Given the description of an element on the screen output the (x, y) to click on. 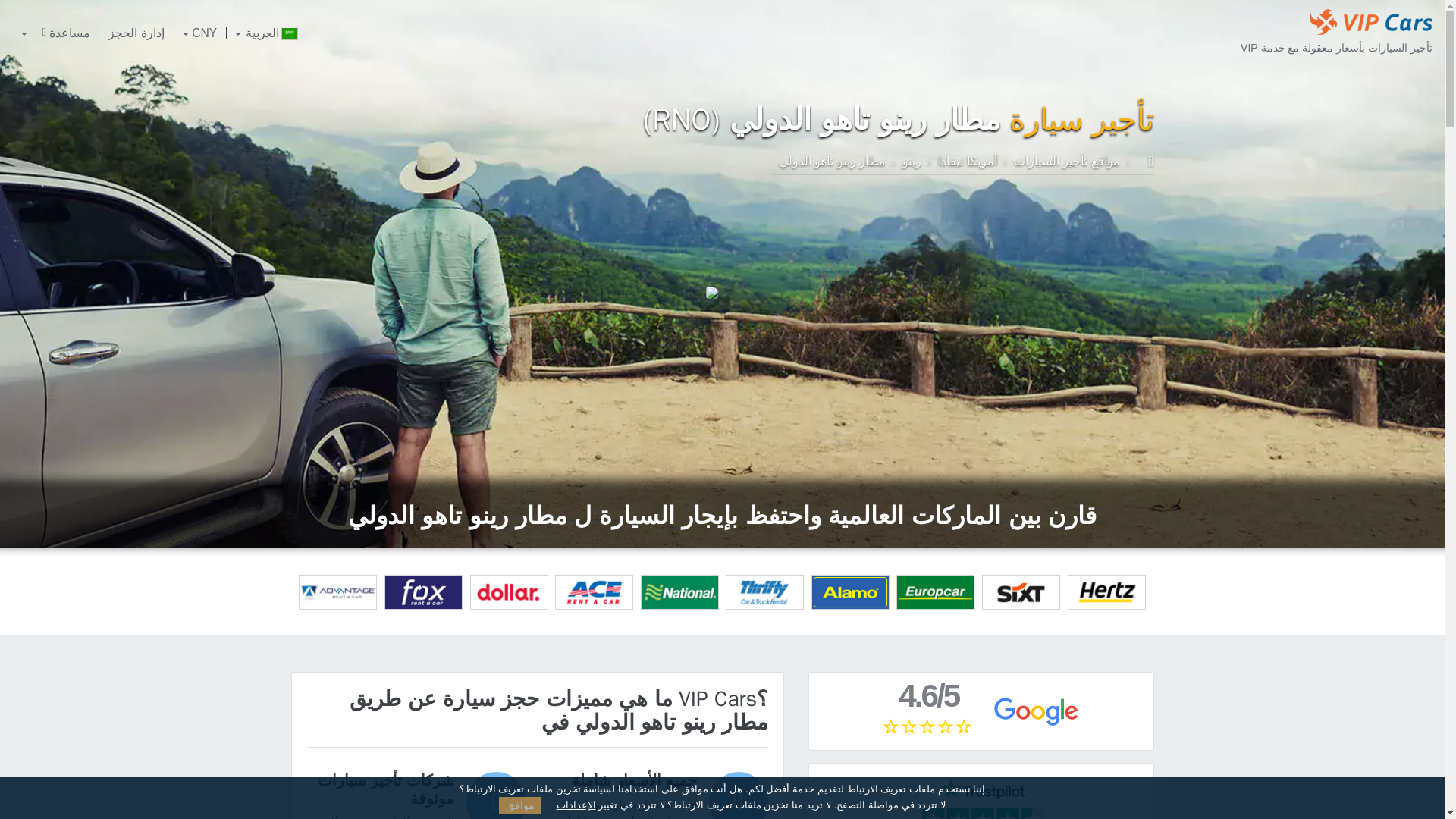
CNY (200, 33)
Review VIP Cars on Google (981, 710)
Advantage Rent a Car (337, 591)
VIPCars (1144, 161)
VIPCars.com (1144, 161)
Ace (593, 591)
Thrifty (764, 591)
Dollar (509, 591)
Hertz (1106, 591)
Sixt (1020, 591)
EuropCar (935, 591)
Customer reviews powered by Trustpilot (981, 798)
National (679, 591)
VIP Cars (1370, 22)
Fox Rent a Car (423, 591)
